Given the description of an element on the screen output the (x, y) to click on. 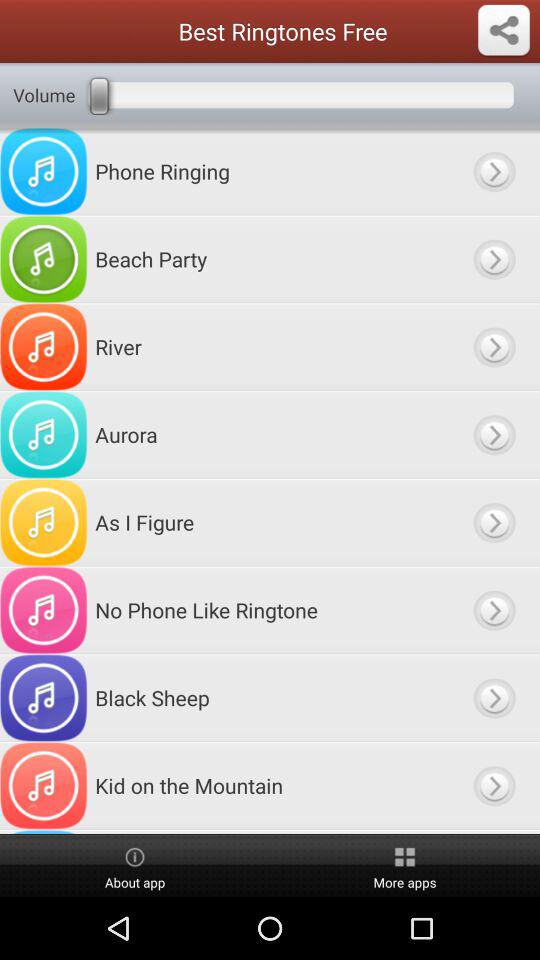
play option (494, 346)
